Given the description of an element on the screen output the (x, y) to click on. 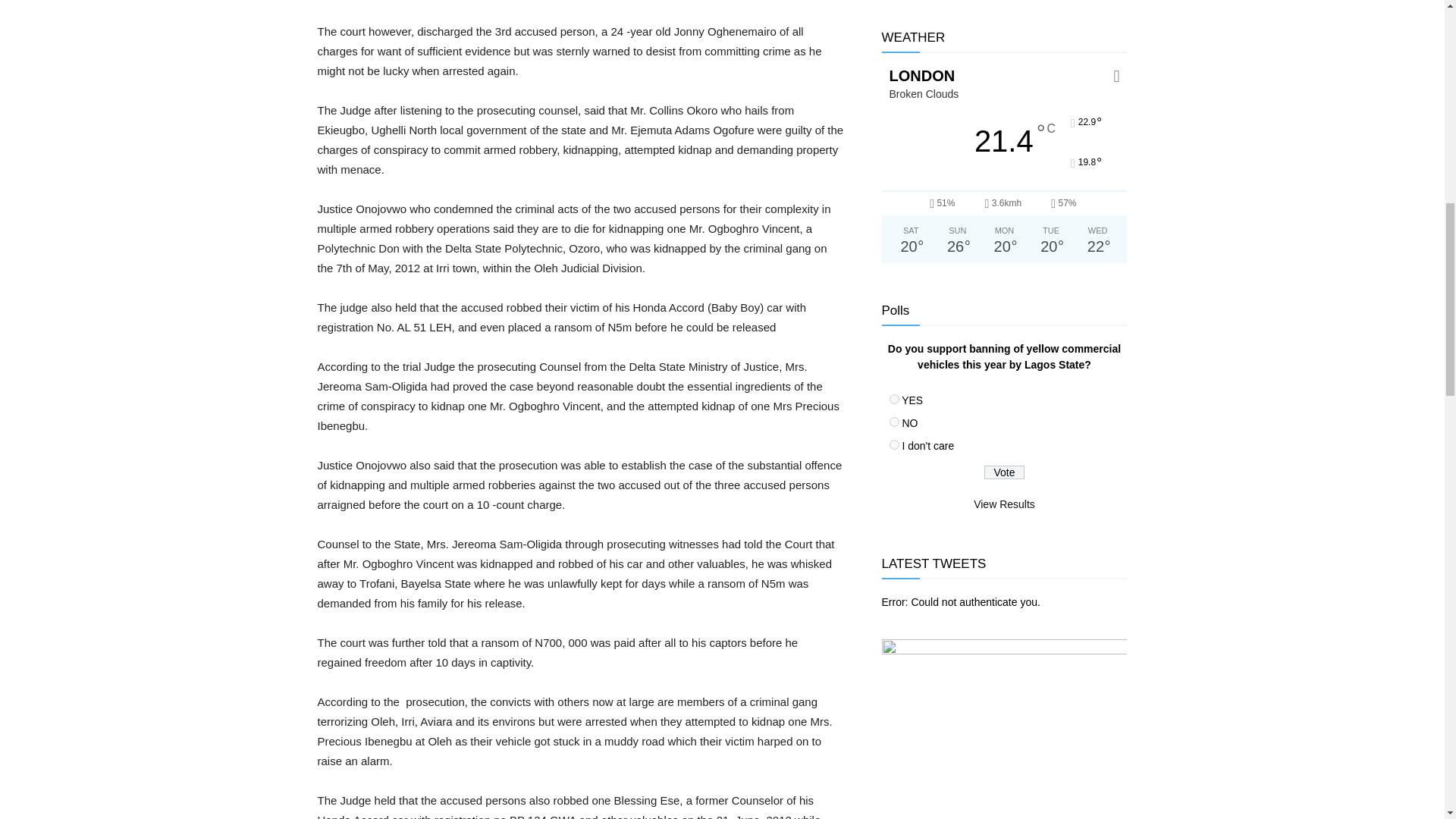
6 (893, 398)
8 (893, 444)
   Vote    (1004, 472)
7 (893, 421)
